Given the description of an element on the screen output the (x, y) to click on. 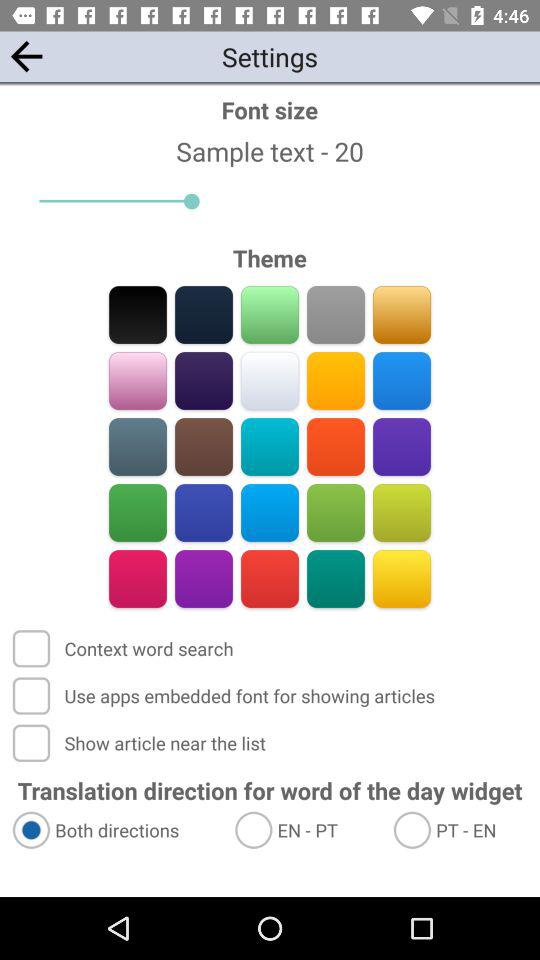
select pink theme (137, 380)
